Given the description of an element on the screen output the (x, y) to click on. 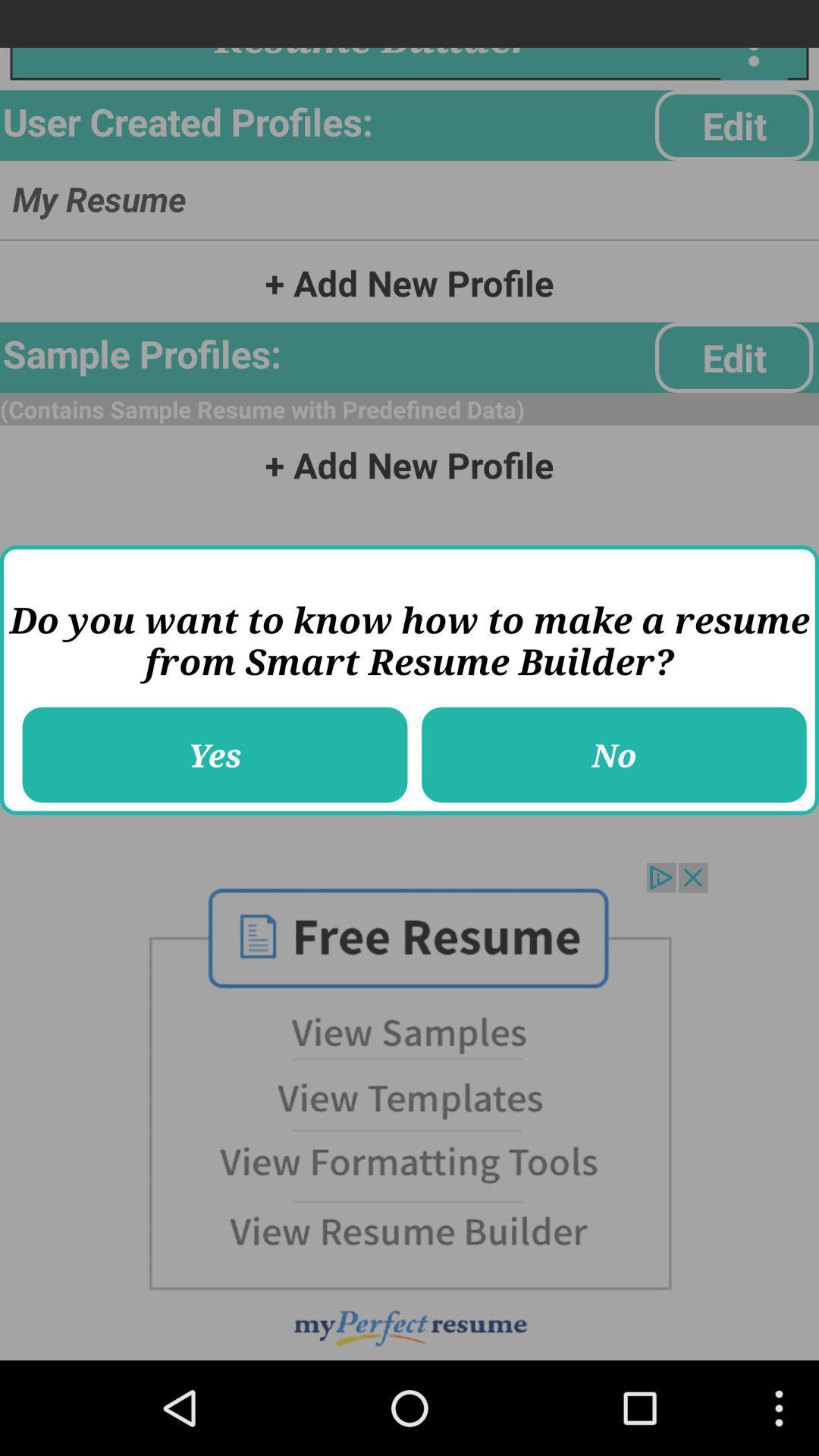
turn off item below the do you want (214, 754)
